Given the description of an element on the screen output the (x, y) to click on. 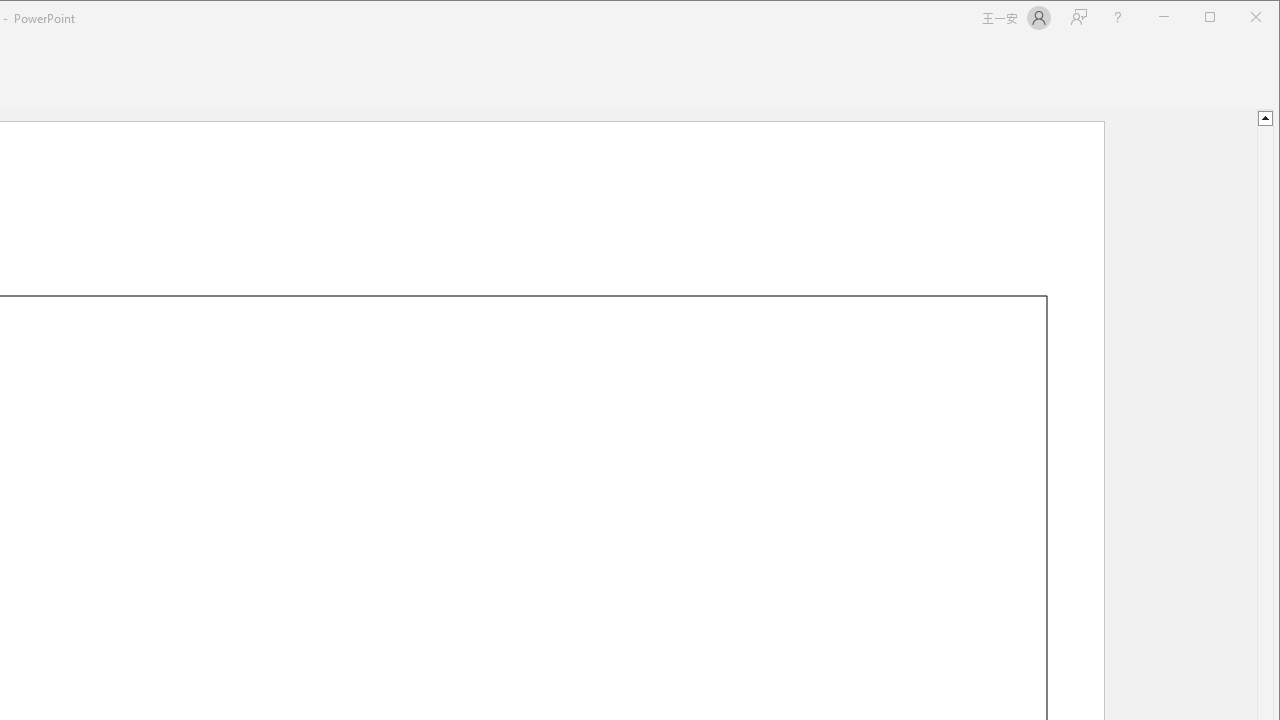
Line up (1264, 116)
Maximize (1238, 18)
